Given the description of an element on the screen output the (x, y) to click on. 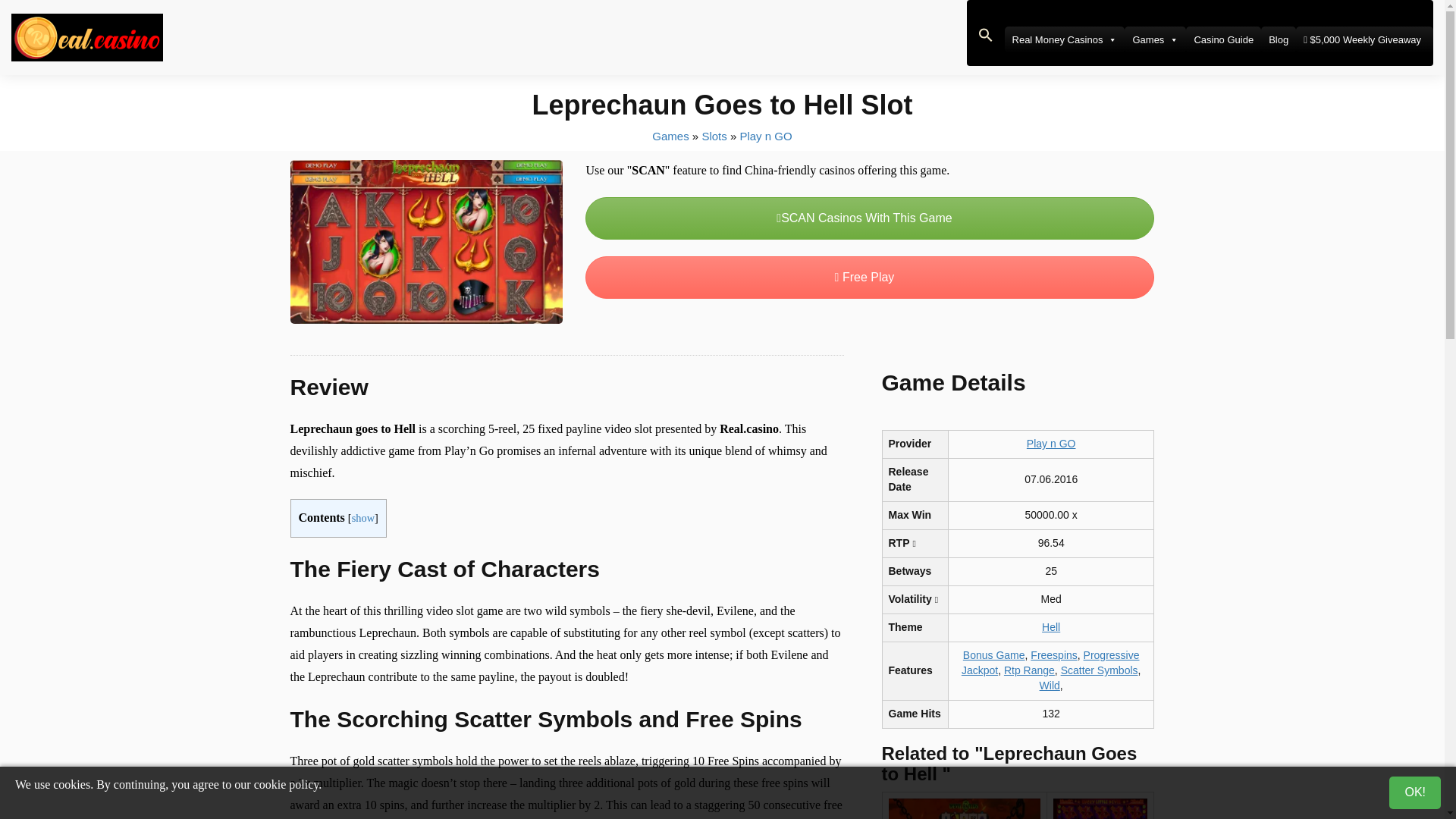
Online Casino Games (670, 135)
Online Slots (713, 135)
Play n GO Slots (765, 135)
Games (1155, 39)
Real Money Casinos (1064, 39)
